Given the description of an element on the screen output the (x, y) to click on. 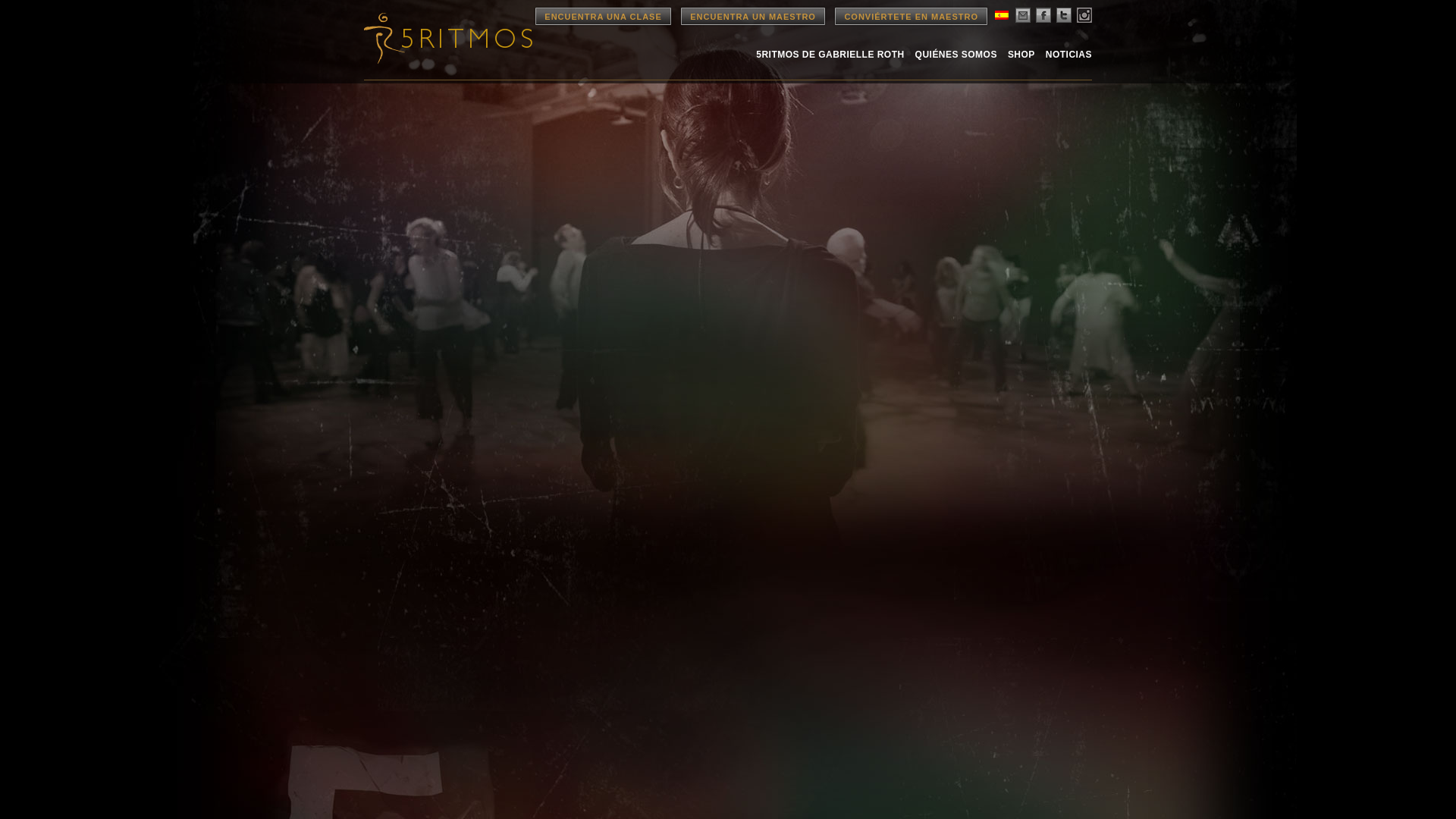
5Rhythms (447, 37)
5RITMOS DE GABRIELLE ROTH (829, 54)
SHOP (1021, 54)
ENCUENTRA UNA CLASE (602, 16)
ENCUENTRA UN MAESTRO (753, 16)
NOTICIAS (1068, 54)
